Given the description of an element on the screen output the (x, y) to click on. 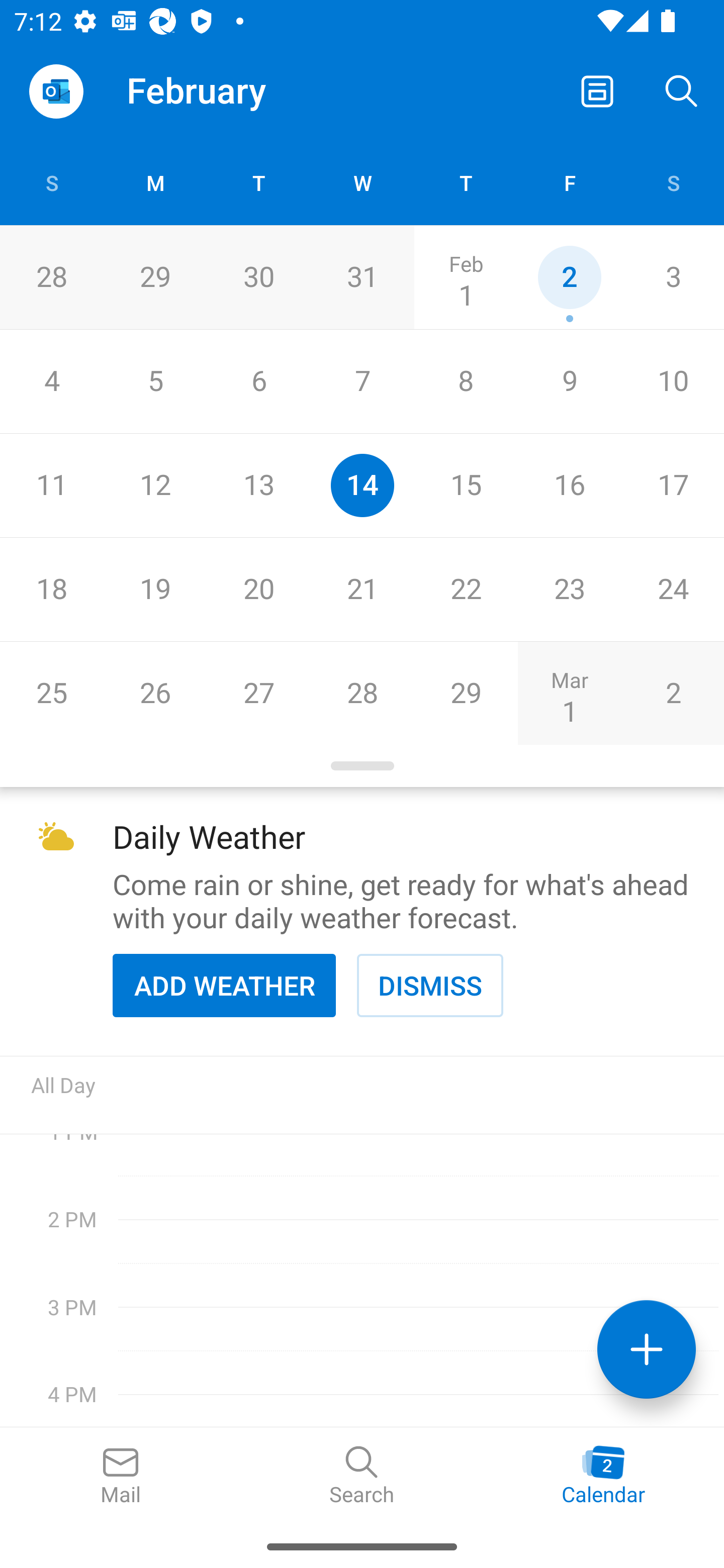
February February 2024, day picker collapse (209, 90)
Switch away from Day view (597, 90)
Search (681, 90)
Open Navigation Drawer (55, 91)
28 Sunday, January 28 (51, 277)
29 Monday, January 29 (155, 277)
30 Tuesday, January 30 (258, 277)
31 Wednesday, January 31 (362, 277)
Feb
1 Thursday, February 1 (465, 277)
2 Events on Friday, February 2, today (569, 277)
3 Saturday, February 3 (672, 277)
4 Sunday, February 4 (51, 380)
5 Monday, February 5 (155, 380)
6 Tuesday, February 6 (258, 380)
7 Wednesday, February 7 (362, 380)
8 Thursday, February 8 (465, 380)
9 Friday, February 9 (569, 380)
10 Saturday, February 10 (672, 380)
11 Sunday, February 11 (51, 485)
12 Monday, February 12 (155, 485)
13 Tuesday, February 13 (258, 485)
14 Wednesday, February 14, Selected (362, 485)
15 Thursday, February 15 (465, 485)
16 Friday, February 16 (569, 485)
17 Saturday, February 17 (672, 485)
18 Sunday, February 18 (51, 589)
19 Monday, February 19 (155, 589)
20 Tuesday, February 20 (258, 589)
21 Wednesday, February 21 (362, 589)
22 Thursday, February 22 (465, 589)
23 Friday, February 23 (569, 589)
24 Saturday, February 24 (672, 589)
25 Sunday, February 25 (51, 692)
26 Monday, February 26 (155, 692)
27 Tuesday, February 27 (258, 692)
28 Wednesday, February 28 (362, 692)
29 Thursday, February 29 (465, 692)
Mar
1 Friday, March 1 (569, 692)
2 Saturday, March 2 (672, 692)
Day picker collapse (362, 765)
ADD WEATHER (224, 985)
DISMISS (429, 985)
Add new event (646, 1348)
Mail (120, 1475)
Search (361, 1475)
